Given the description of an element on the screen output the (x, y) to click on. 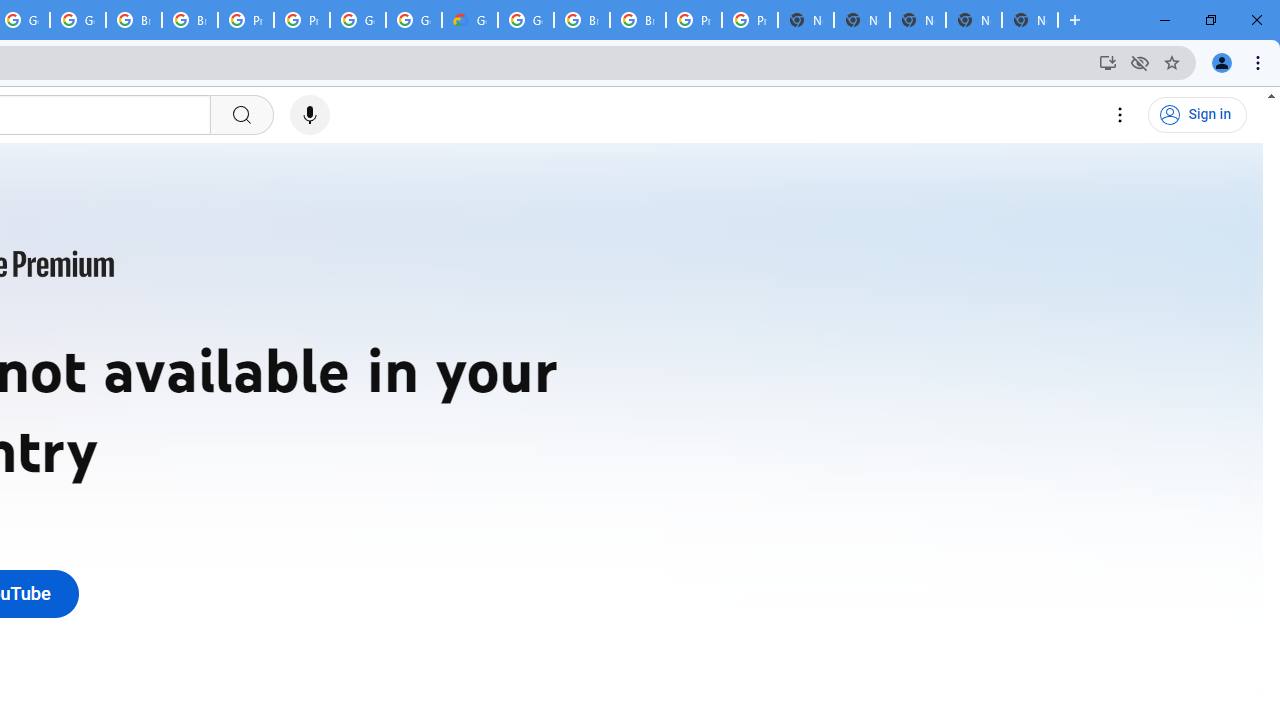
New Tab (1030, 20)
Google Cloud Platform (358, 20)
Browse Chrome as a guest - Computer - Google Chrome Help (134, 20)
Google Cloud Platform (525, 20)
